Given the description of an element on the screen output the (x, y) to click on. 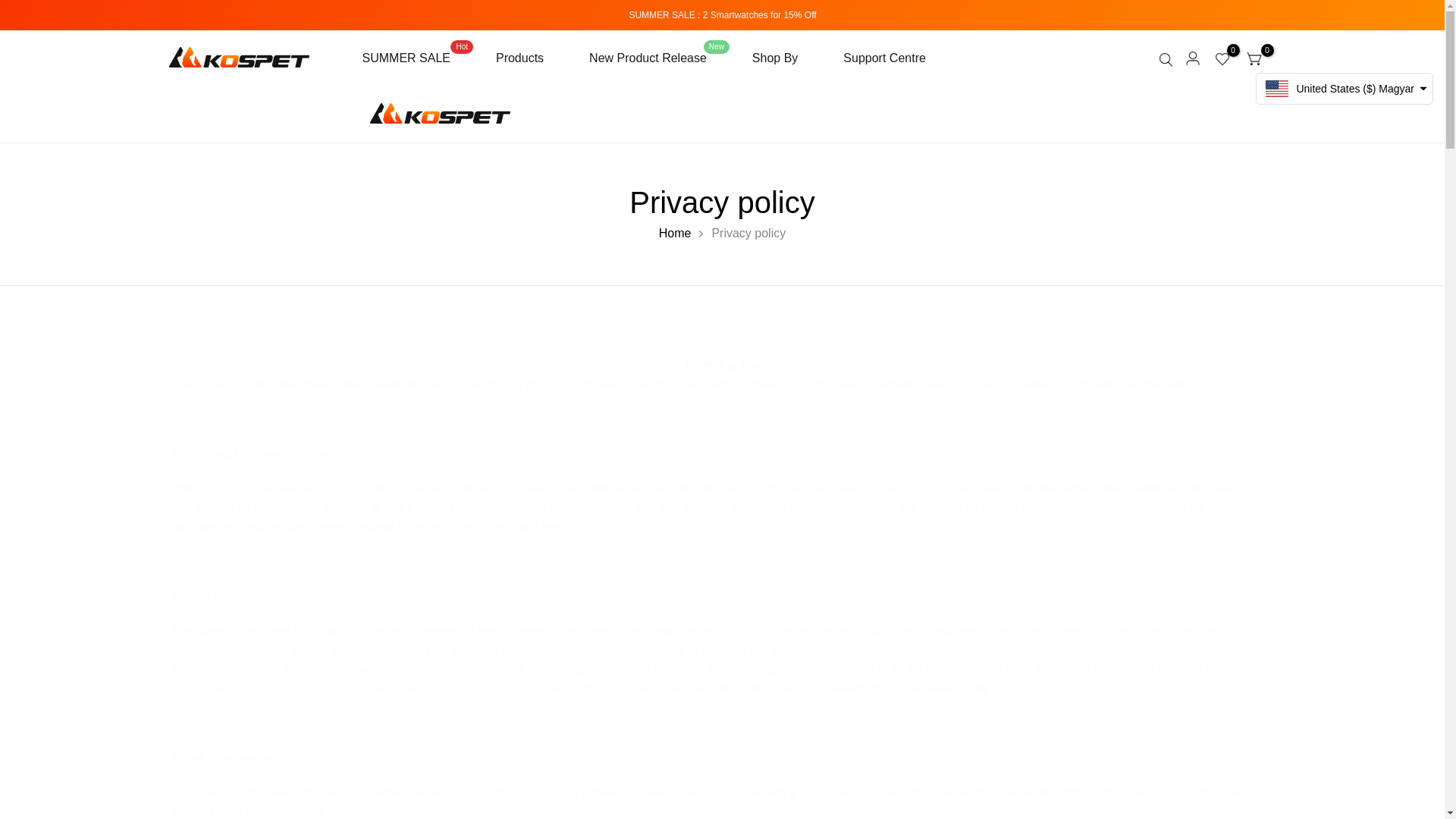
Products (417, 57)
Skip to content (519, 57)
Support Centre (10, 7)
Shop By (873, 57)
